Given the description of an element on the screen output the (x, y) to click on. 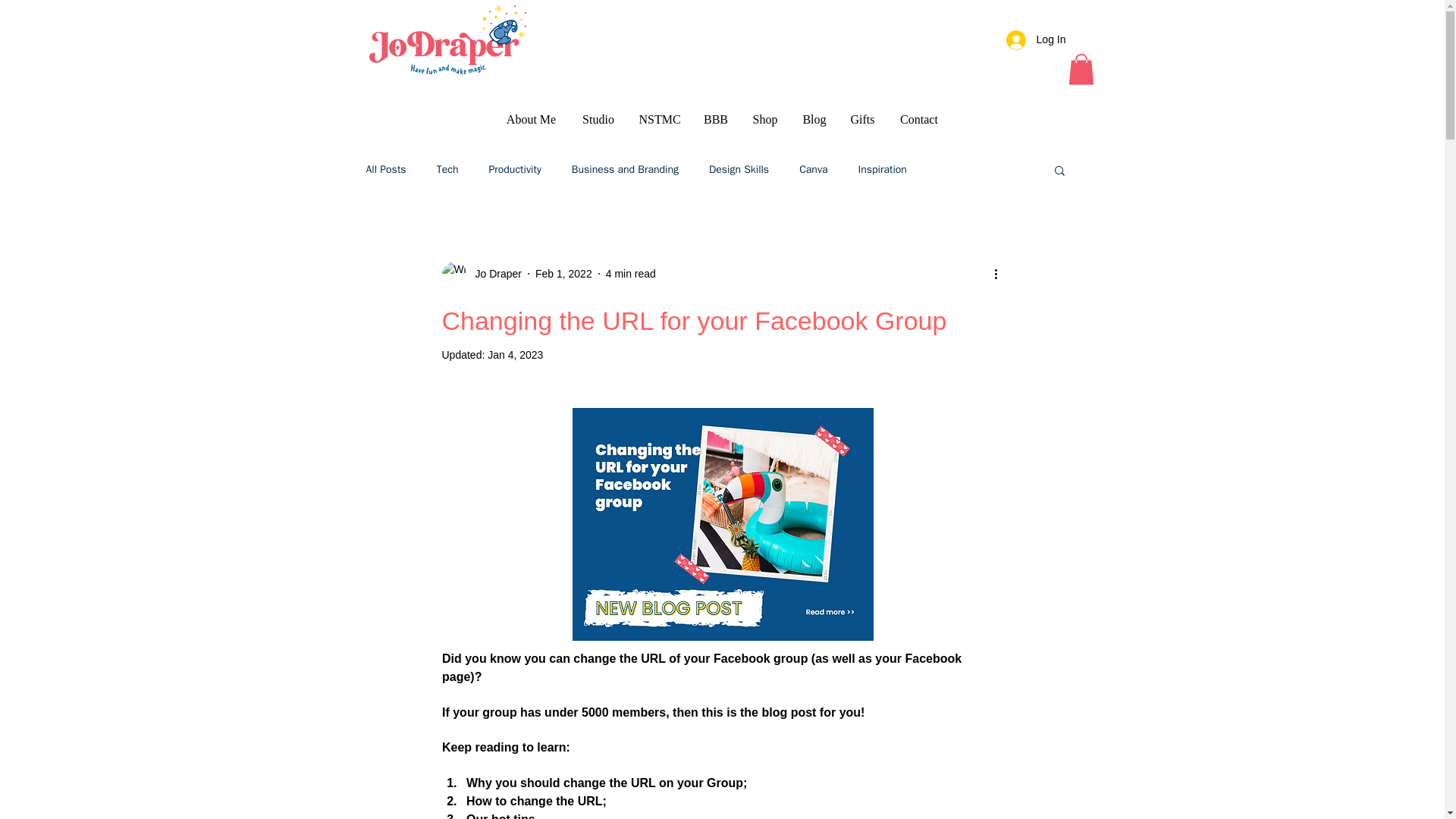
Blog (814, 119)
Jo Draper (481, 273)
Feb 1, 2022 (563, 272)
Canva (813, 169)
Gifts (862, 119)
Log In (1036, 39)
Inspiration (883, 169)
Design Skills (738, 169)
4 min read (630, 272)
Jo Draper (493, 273)
Business and Branding (625, 169)
Studio (598, 119)
Shop (764, 119)
BBB (715, 119)
Productivity (513, 169)
